Given the description of an element on the screen output the (x, y) to click on. 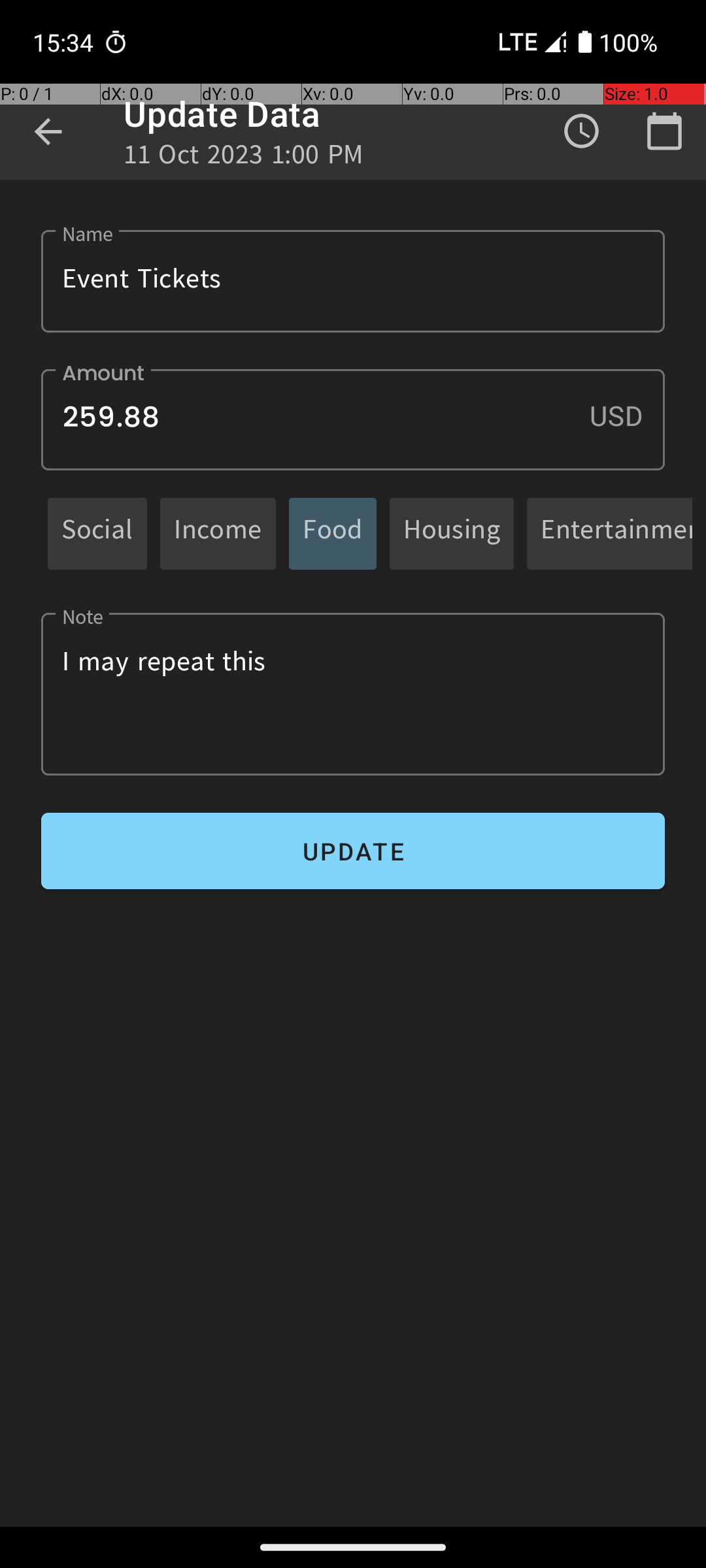
11 Oct 2023 1:00 PM Element type: android.widget.TextView (243, 157)
259.88 Element type: android.widget.EditText (352, 419)
